Given the description of an element on the screen output the (x, y) to click on. 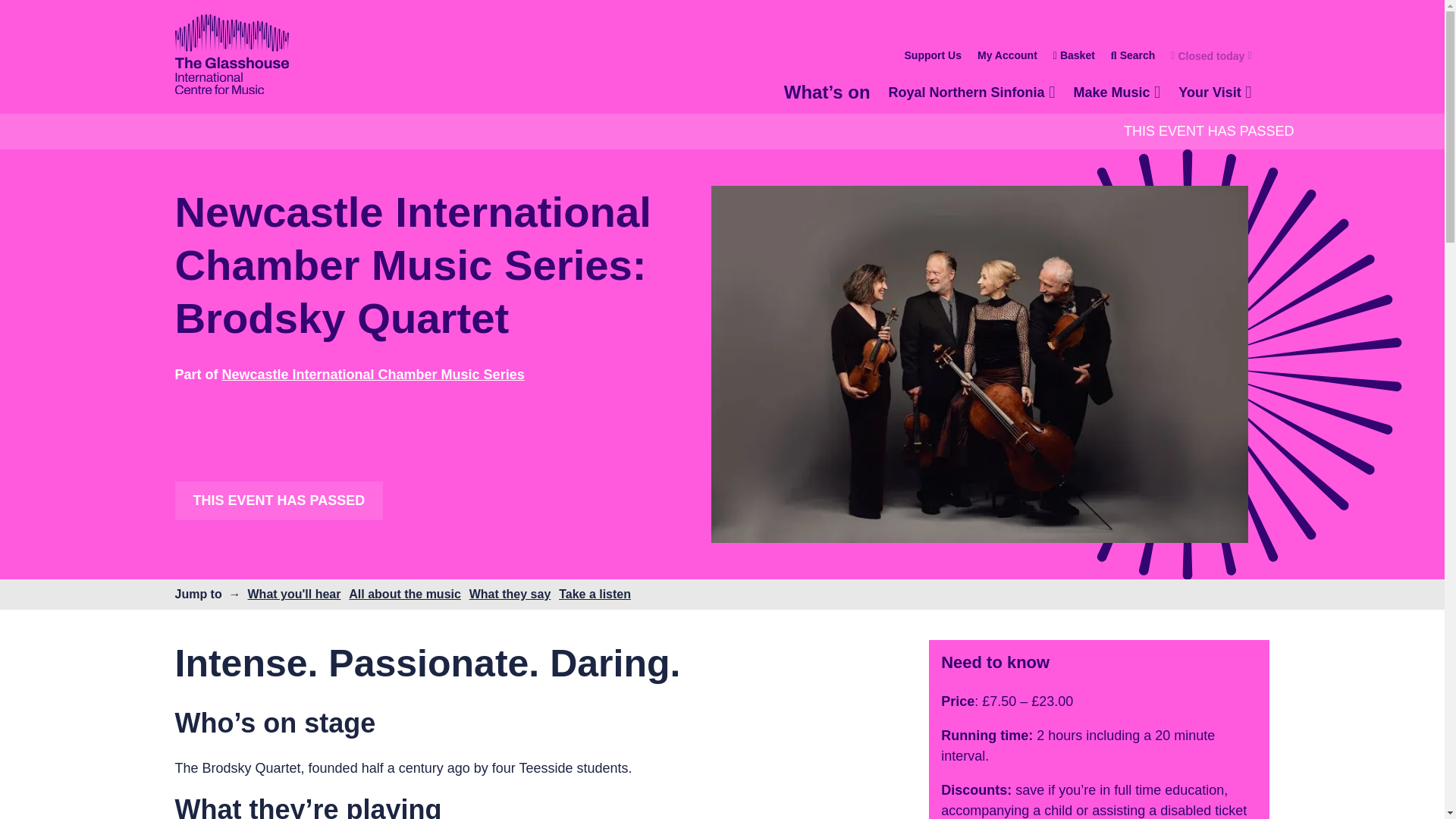
Search (1133, 55)
The Glasshouse International Centre for Music logo (971, 92)
Closed today (231, 56)
My Account (1214, 92)
Brodsky credit Sarah Cresswell (1202, 55)
Support Us (1006, 55)
